Given the description of an element on the screen output the (x, y) to click on. 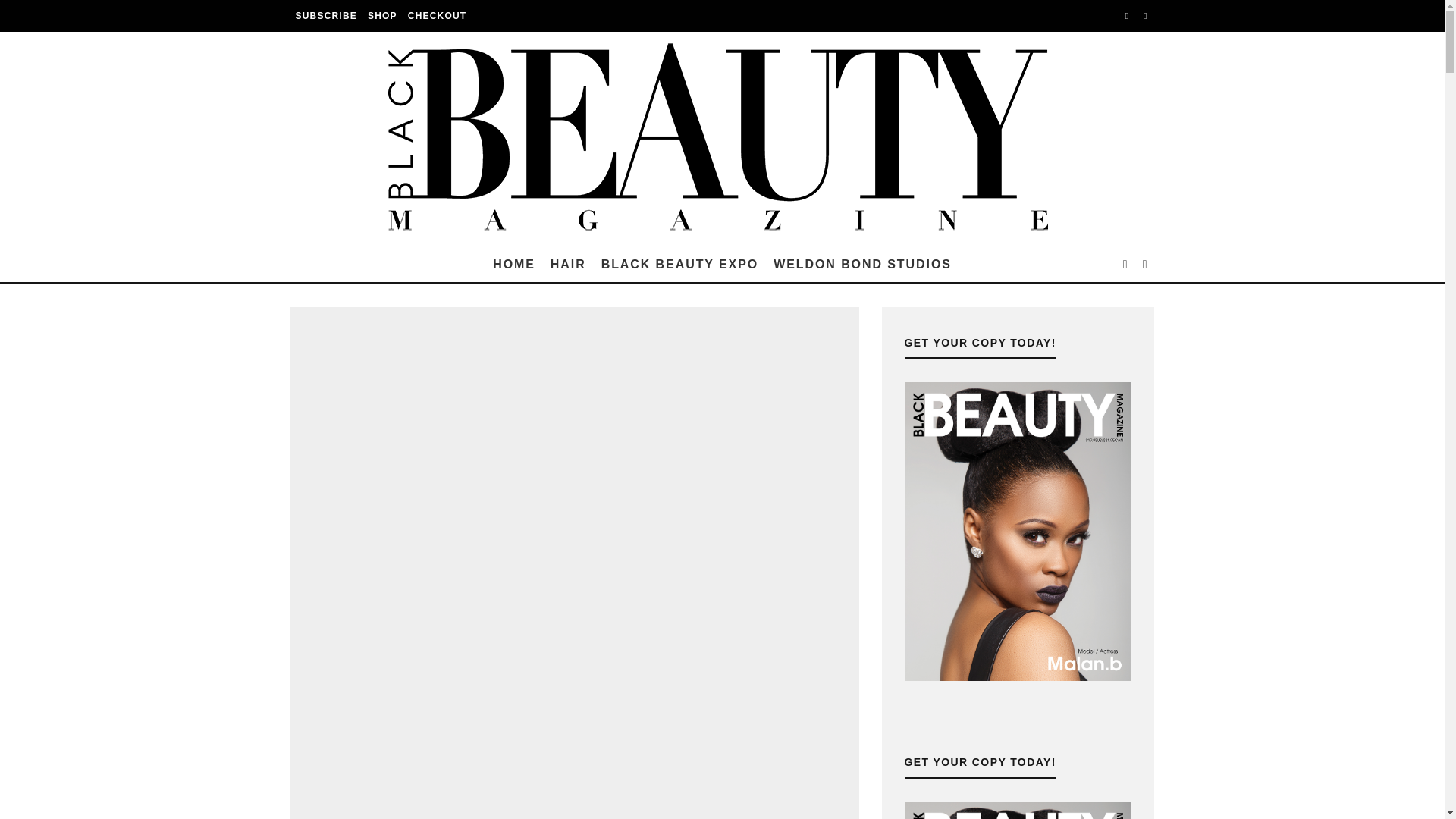
WELDON BOND STUDIOS (862, 264)
SHOP (382, 15)
HOME (513, 264)
HAIR (568, 264)
SUBSCRIBE (325, 15)
BLACK BEAUTY EXPO (679, 264)
CHECKOUT (437, 15)
